Given the description of an element on the screen output the (x, y) to click on. 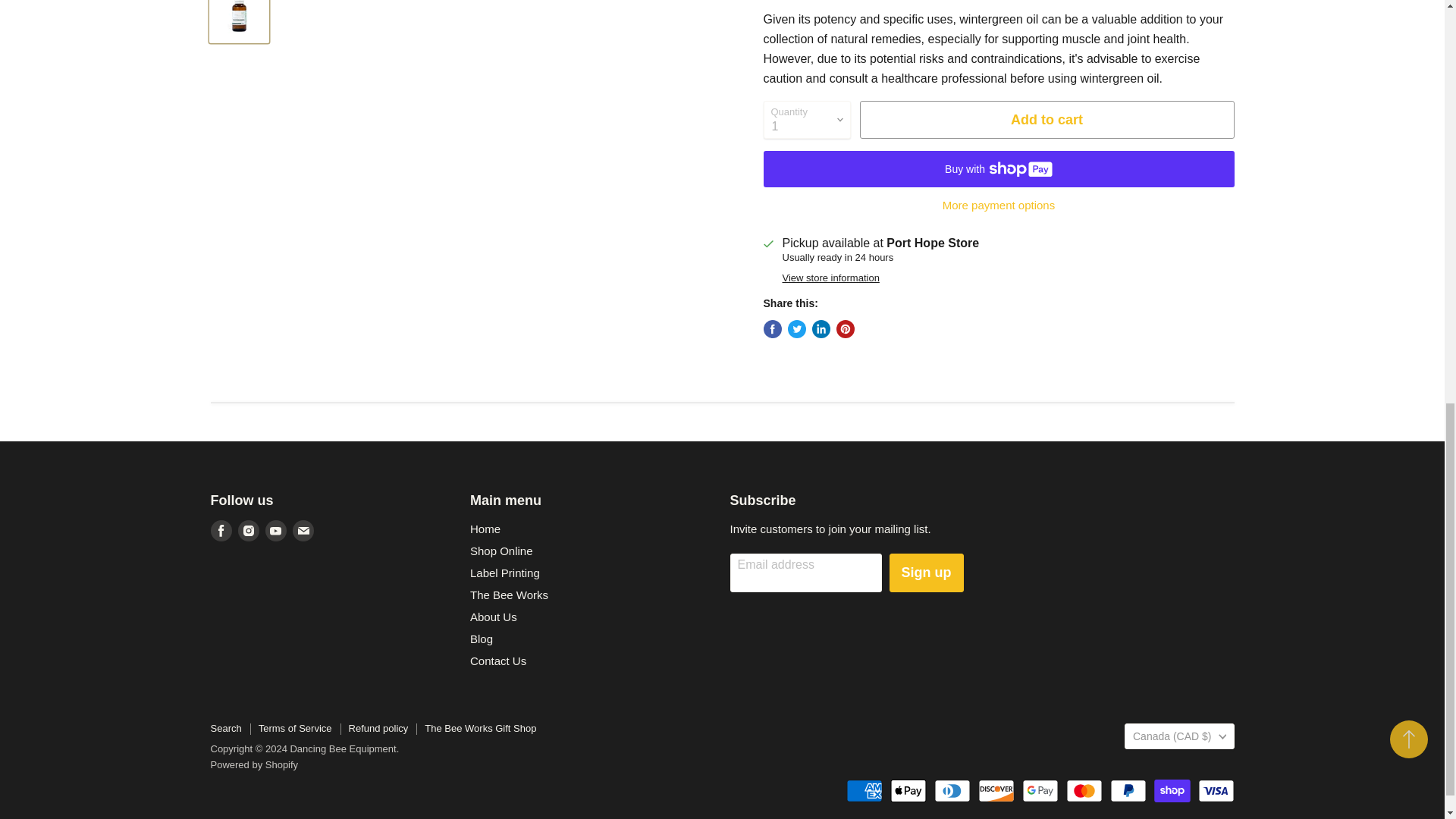
Facebook (221, 530)
Youtube (275, 530)
Instagram (248, 530)
Email (303, 530)
